Given the description of an element on the screen output the (x, y) to click on. 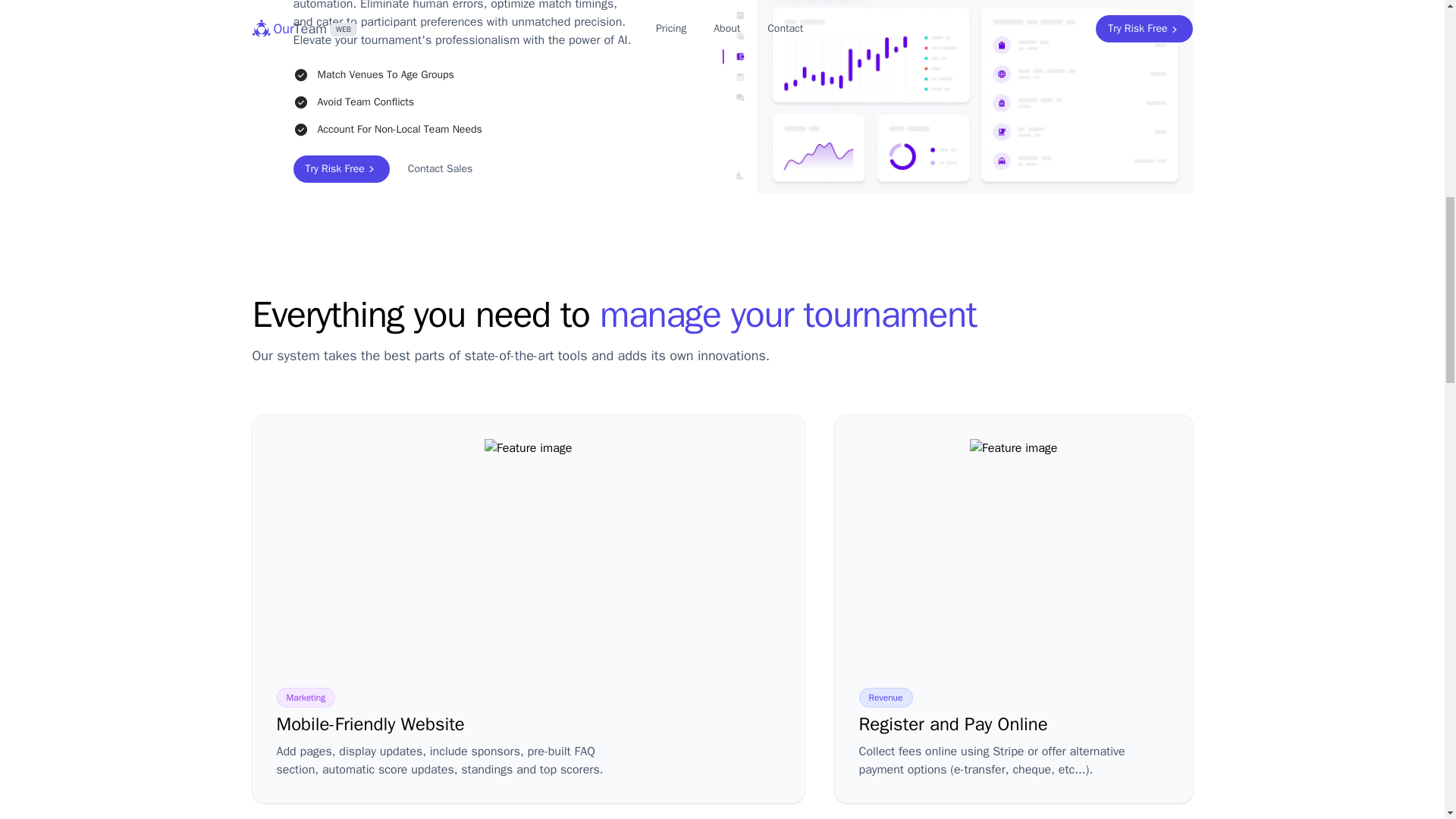
Contact Sales (440, 168)
Try Risk Free (340, 168)
